Given the description of an element on the screen output the (x, y) to click on. 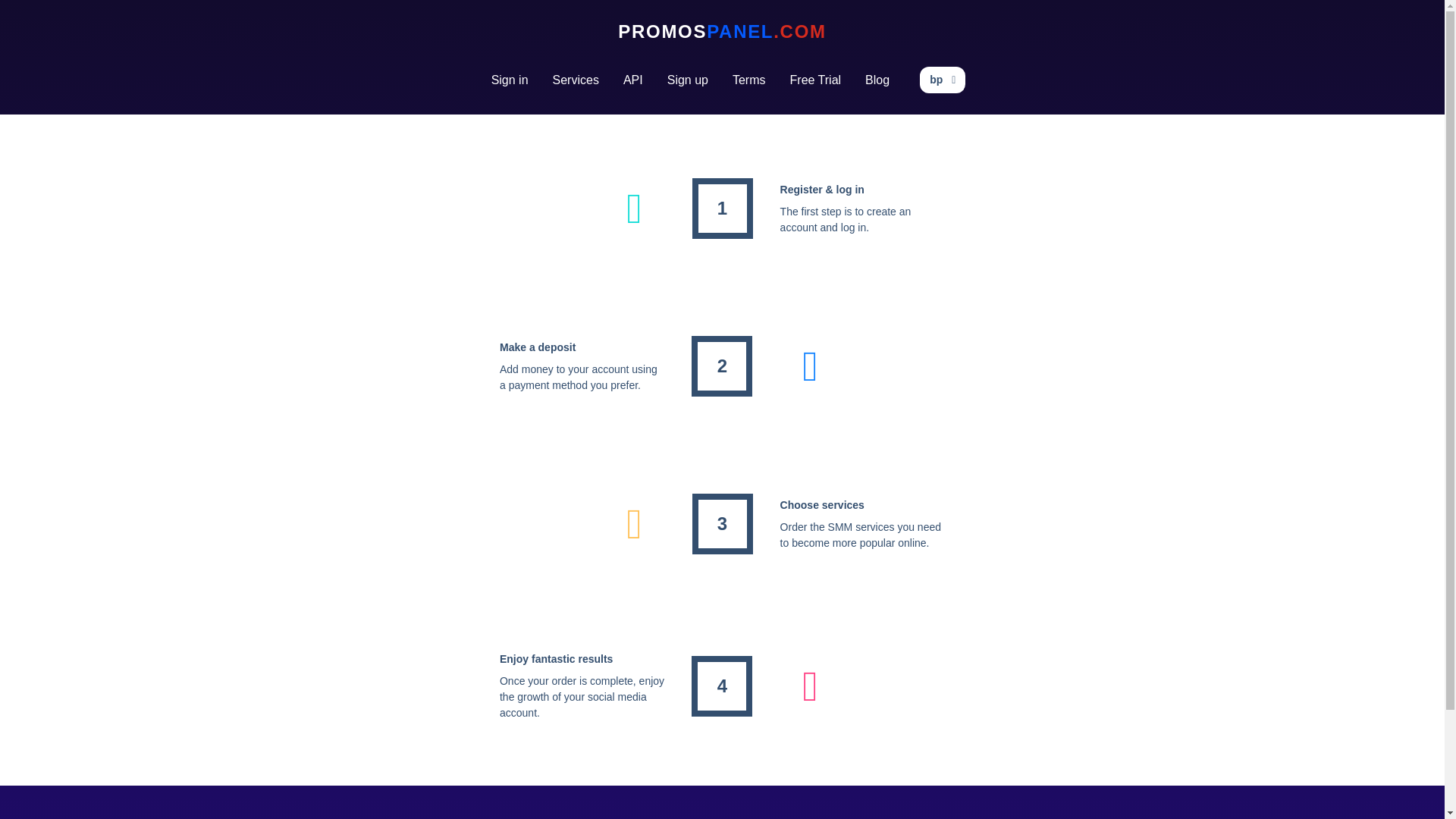
Sign up (687, 79)
Services (575, 79)
Terms (748, 79)
API (633, 79)
Blog (877, 79)
Free Trial (815, 79)
Sign in (509, 79)
